Given the description of an element on the screen output the (x, y) to click on. 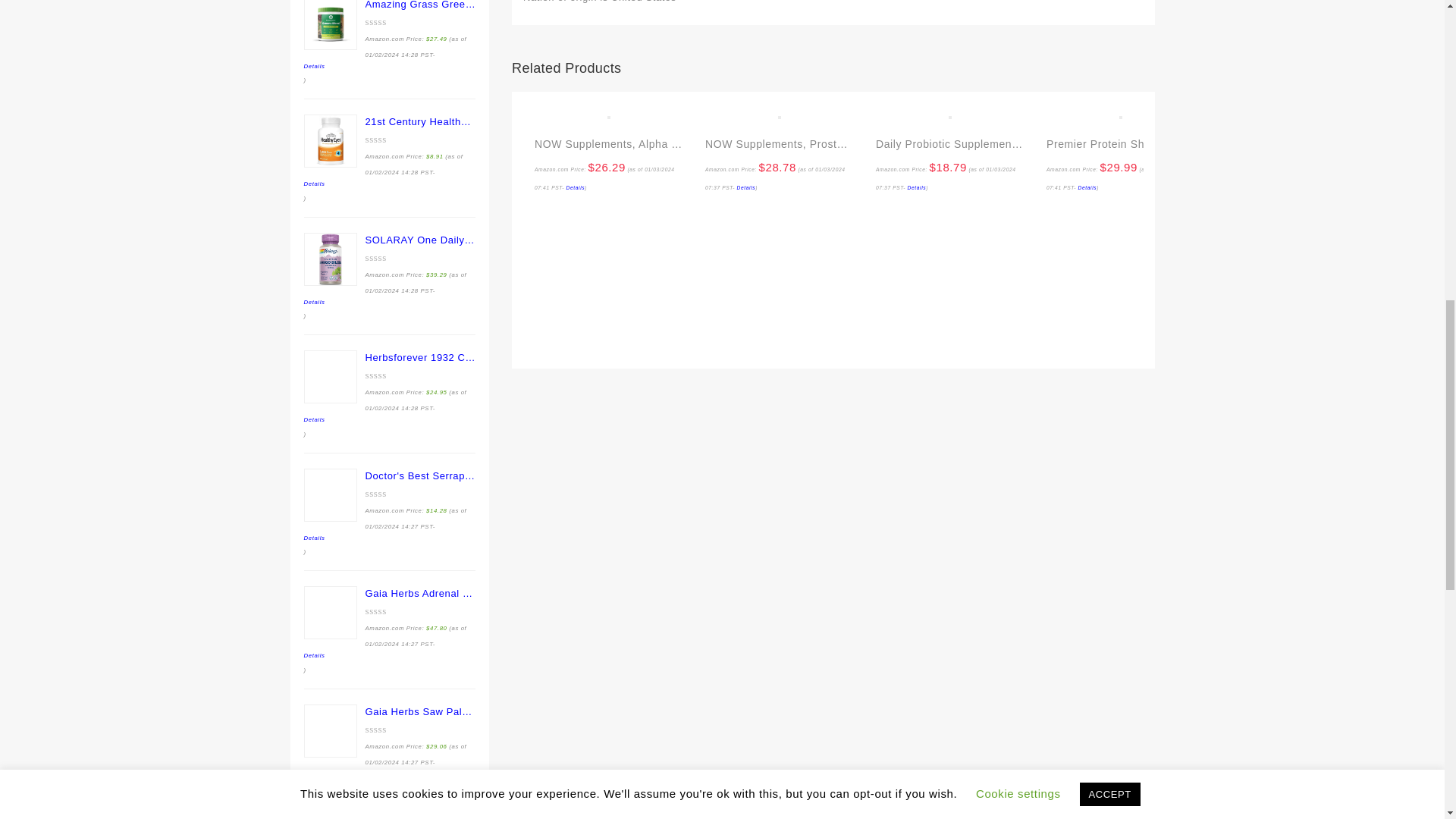
Details (575, 187)
Details (745, 187)
